Given the description of an element on the screen output the (x, y) to click on. 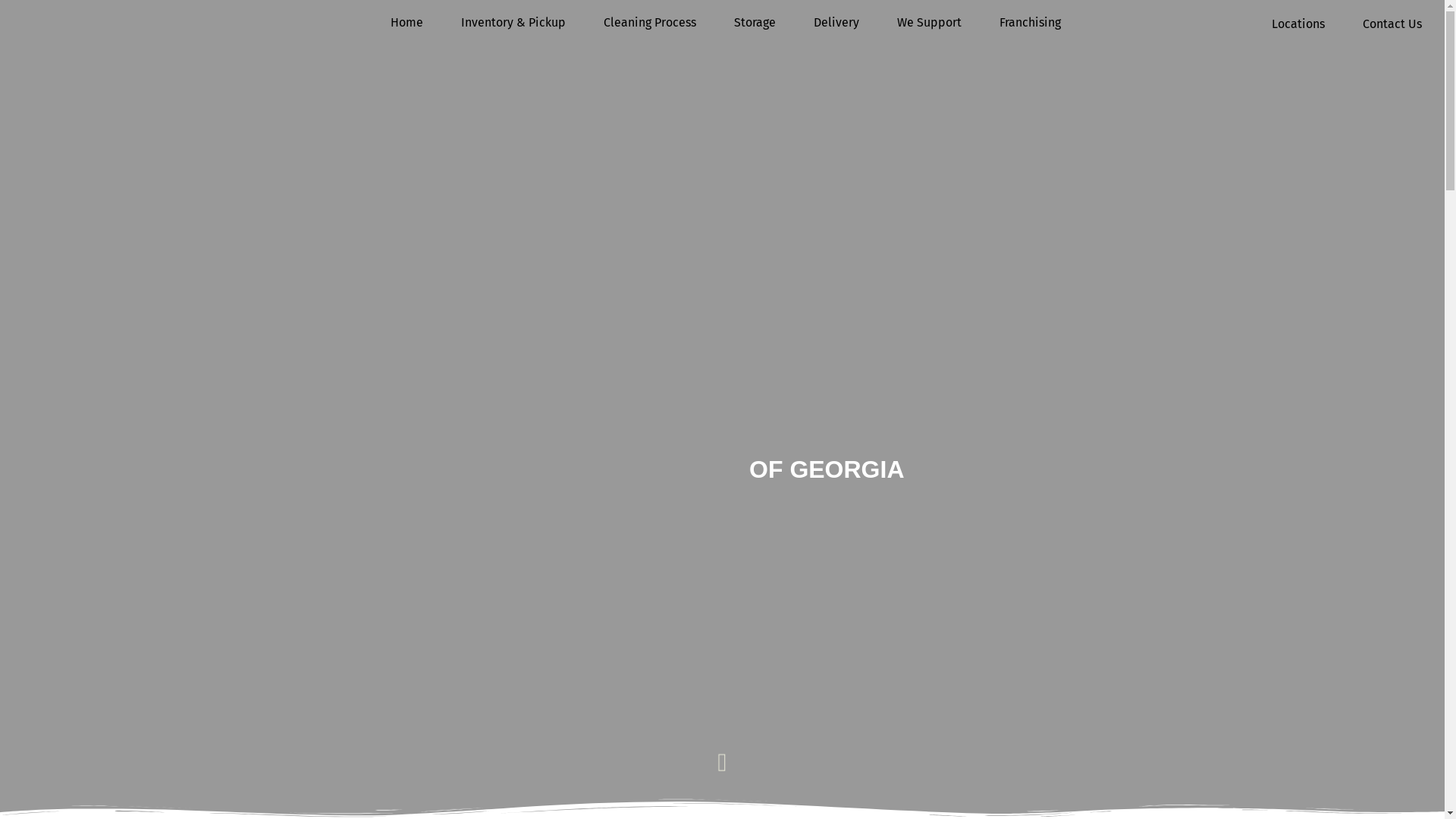
Storage Element type: text (754, 22)
Franchising Element type: text (1030, 22)
Contact Us Element type: text (1392, 23)
Inventory & Pickup Element type: text (513, 22)
Locations Element type: text (1298, 23)
We Support Element type: text (928, 22)
Home Element type: text (406, 22)
Delivery Element type: text (836, 22)
Cleaning Process Element type: text (649, 22)
